Given the description of an element on the screen output the (x, y) to click on. 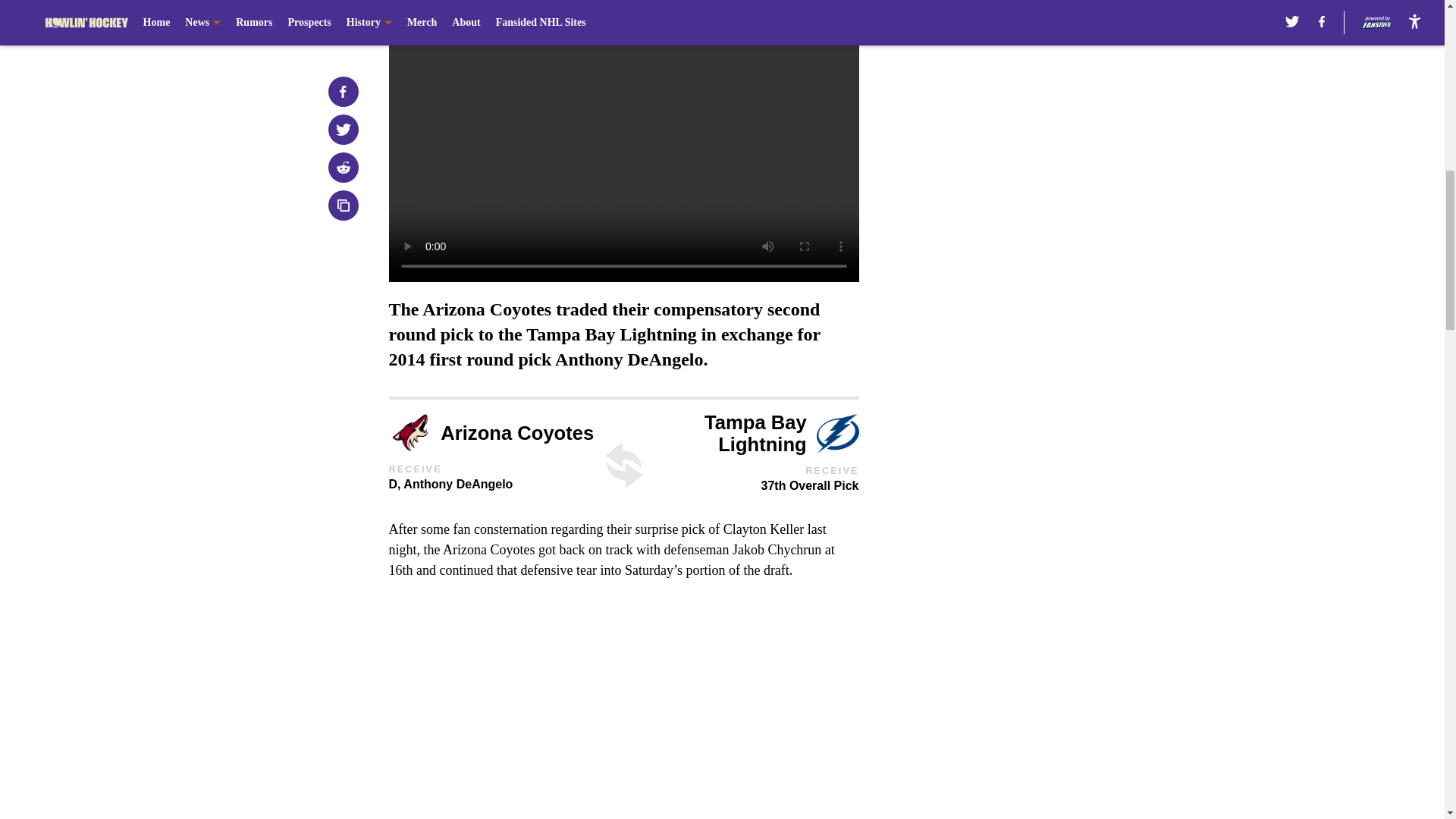
3rd party ad content (1047, 332)
3rd party ad content (1047, 113)
